Given the description of an element on the screen output the (x, y) to click on. 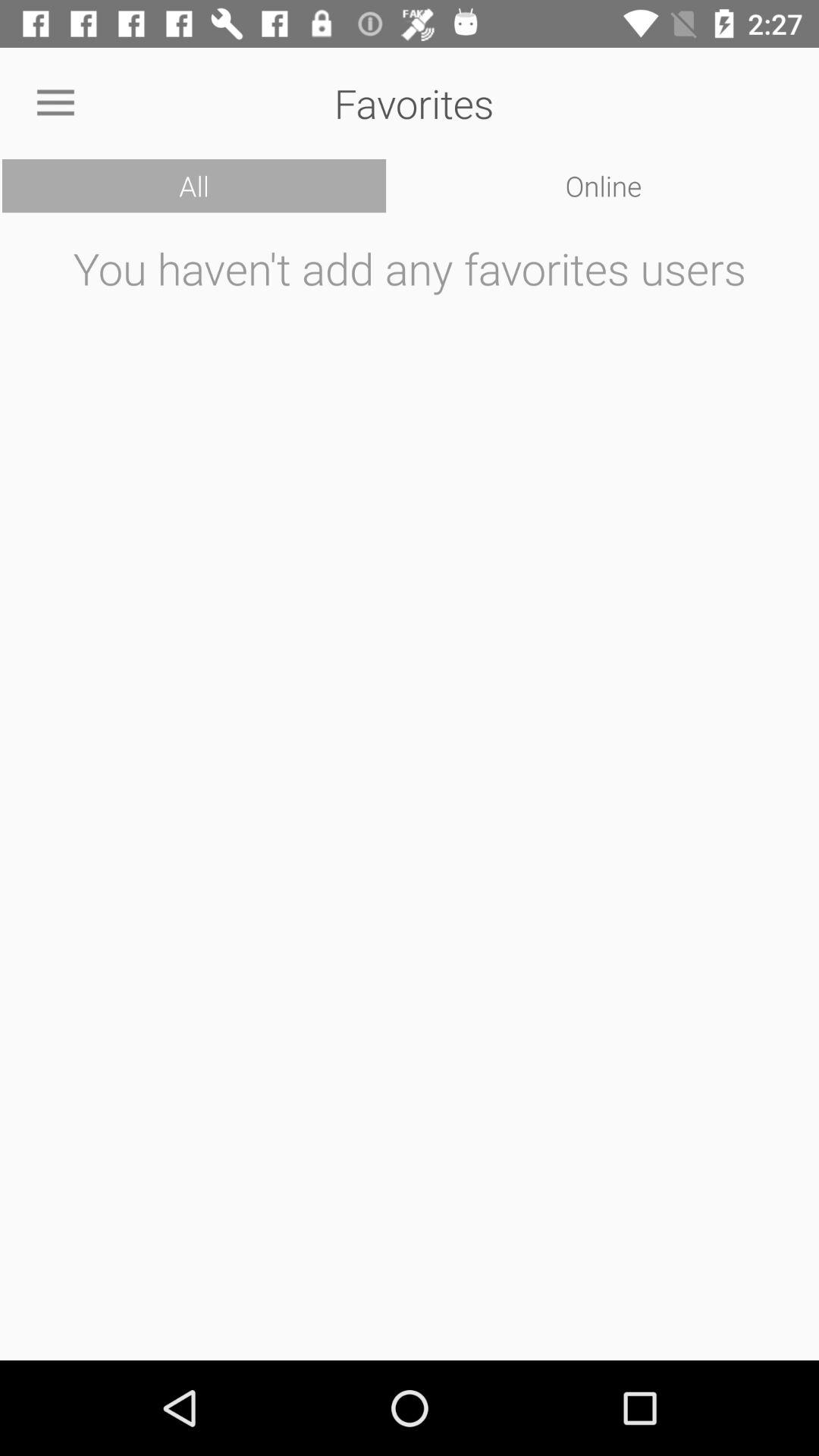
open the icon next to online (194, 185)
